Given the description of an element on the screen output the (x, y) to click on. 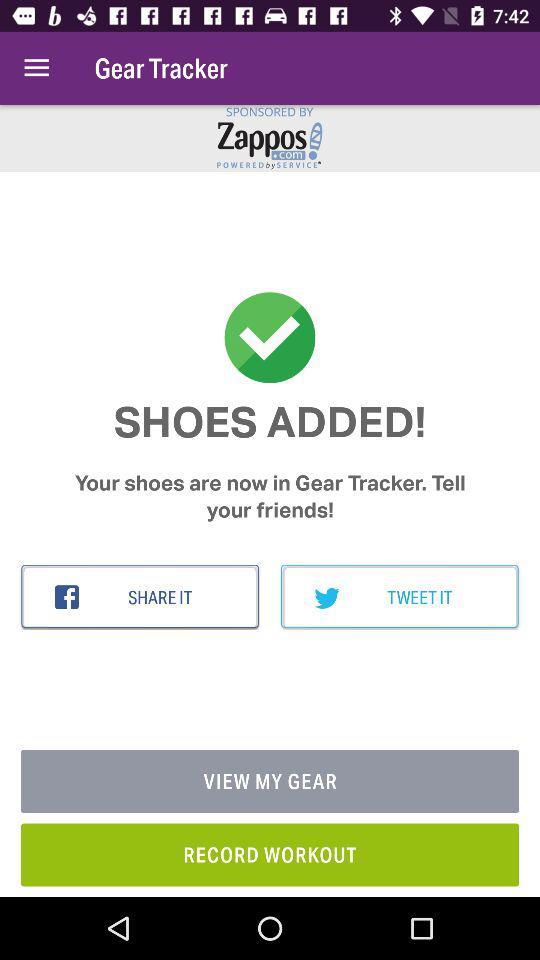
jump to the record workout (270, 854)
